Given the description of an element on the screen output the (x, y) to click on. 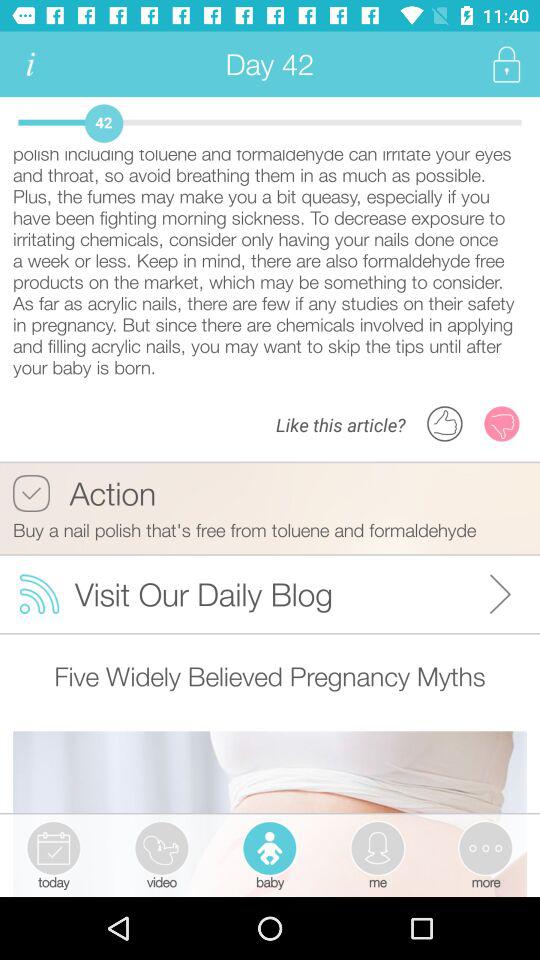
turn off button at the top left corner (30, 63)
